Given the description of an element on the screen output the (x, y) to click on. 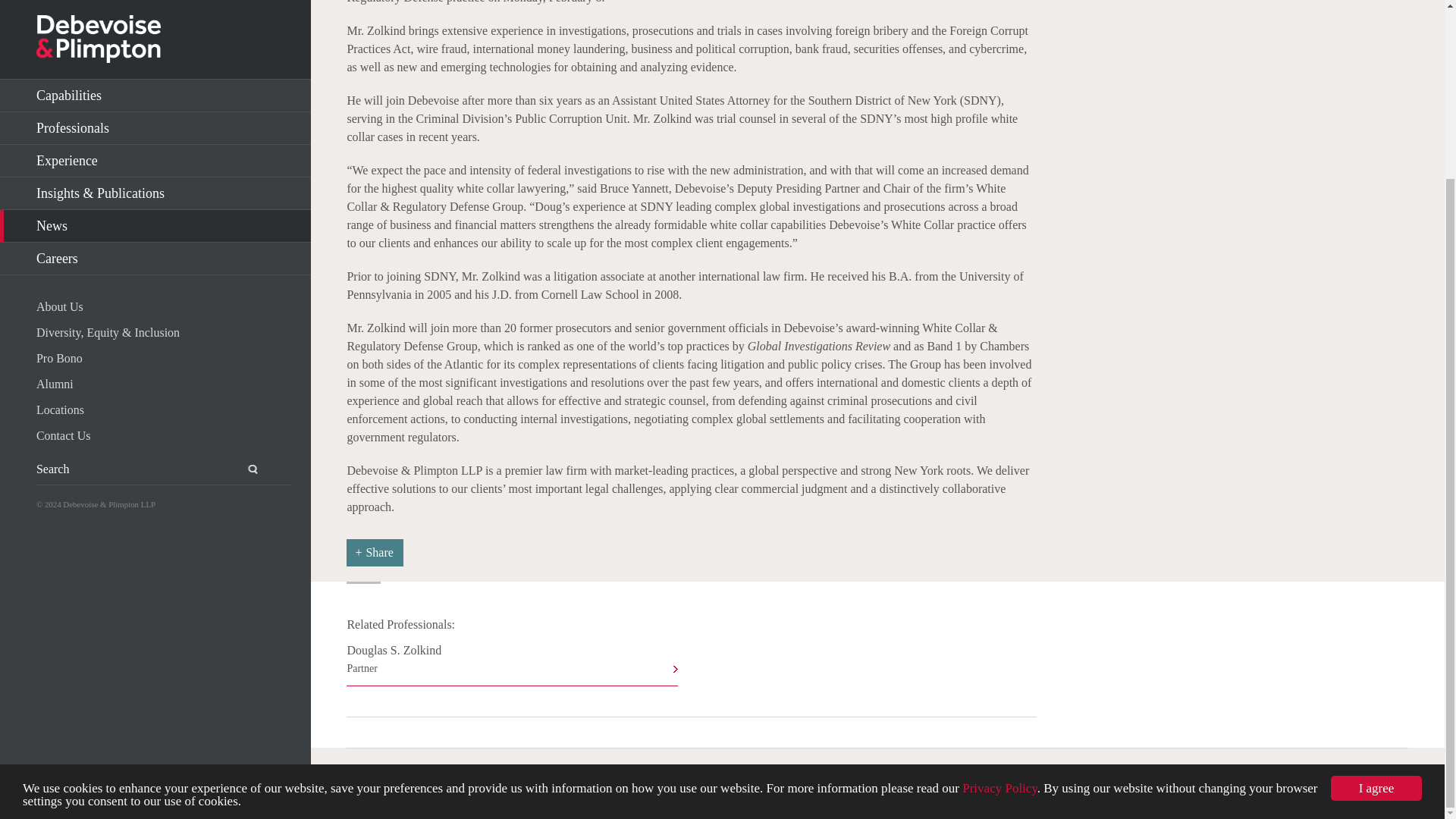
Careers (155, 40)
Subscribe (373, 776)
News (155, 12)
Alumni (164, 166)
Search (243, 251)
Privacy (512, 663)
Visitor Login (557, 776)
Pro Bono (921, 776)
Site Map (164, 140)
Contact Us (443, 776)
Share (164, 217)
Locations (374, 552)
Debevoise Login (164, 191)
Legal (1023, 776)
